Given the description of an element on the screen output the (x, y) to click on. 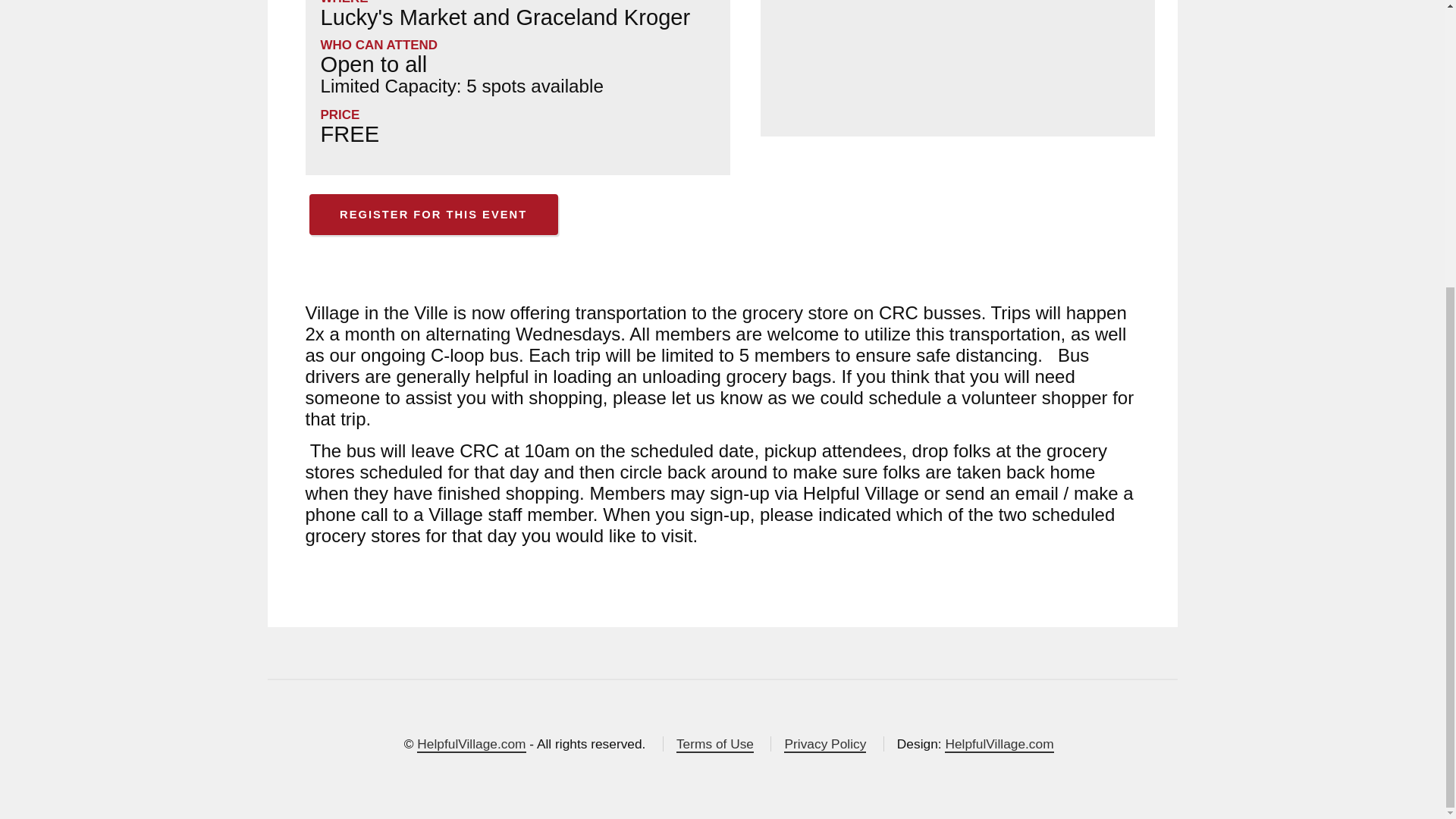
Privacy Policy (825, 744)
HelpfulVillage.com (470, 744)
REGISTER FOR THIS EVENT (432, 214)
HelpfulVillage.com (998, 744)
Terms of Use (715, 744)
